Given the description of an element on the screen output the (x, y) to click on. 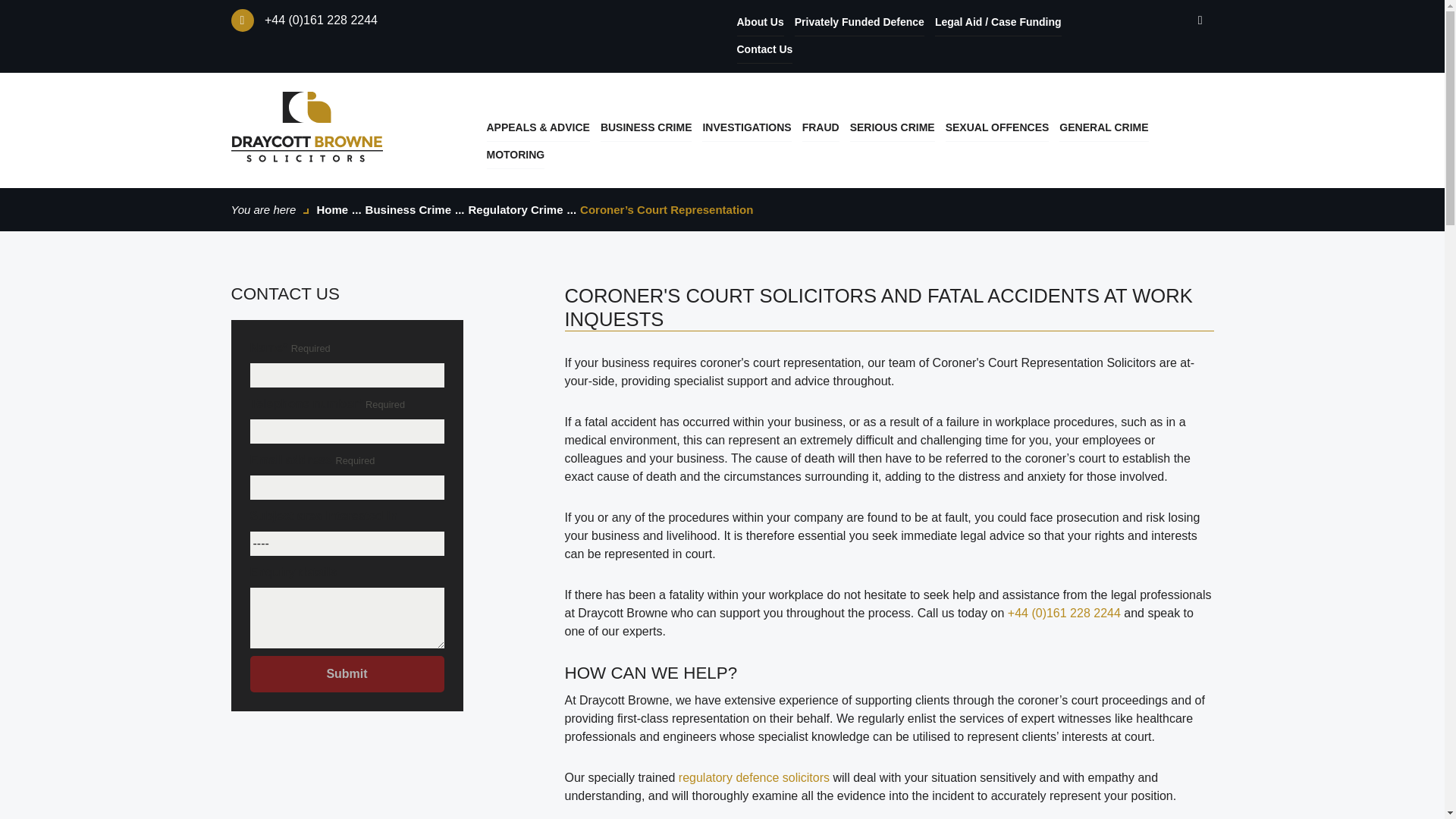
BUSINESS CRIME (646, 127)
Privately Funded Defence (859, 22)
INVESTIGATIONS (745, 127)
Submit (347, 674)
About Us (760, 22)
Draycott Browne Home (305, 125)
Call Draycott Browne (320, 19)
FRAUD (821, 127)
Contact Us (764, 49)
